Given the description of an element on the screen output the (x, y) to click on. 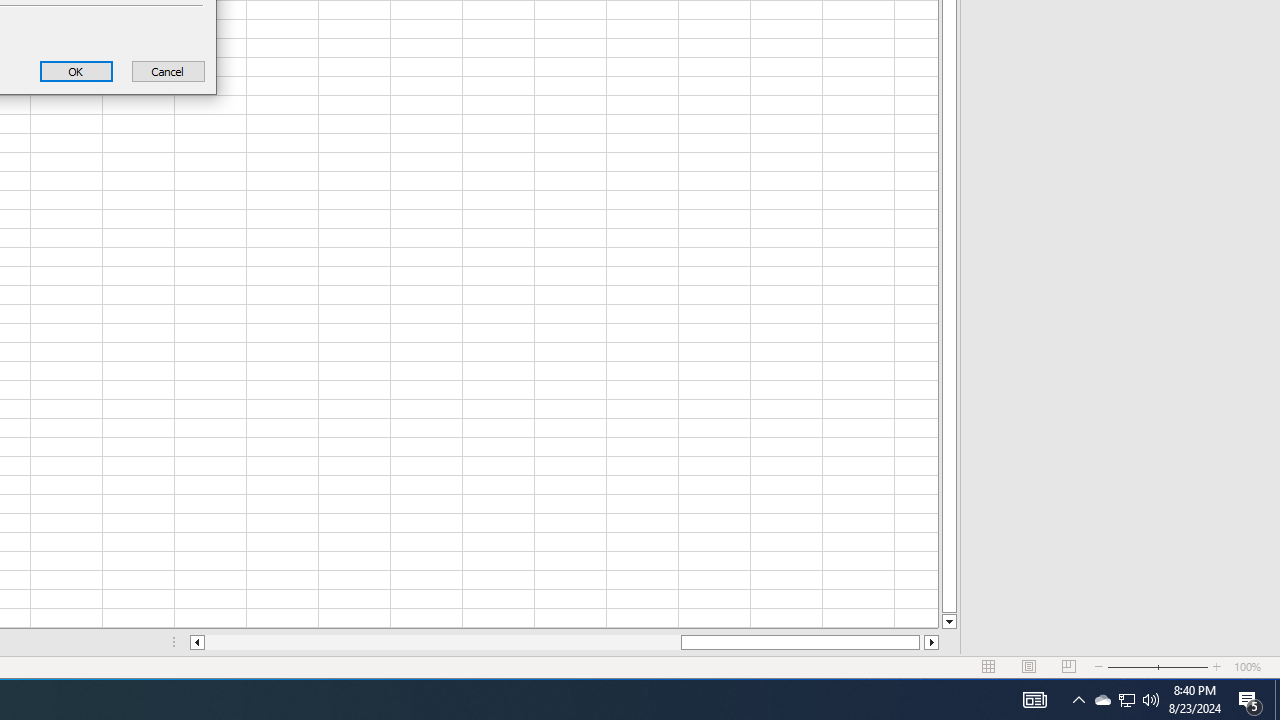
Q2790: 100% (1151, 699)
AutomationID: 4105 (1126, 699)
Cancel (1034, 699)
OK (168, 70)
User Promoted Notification Area (75, 70)
Show desktop (1126, 699)
Action Center, 5 new notifications (1277, 699)
